Given the description of an element on the screen output the (x, y) to click on. 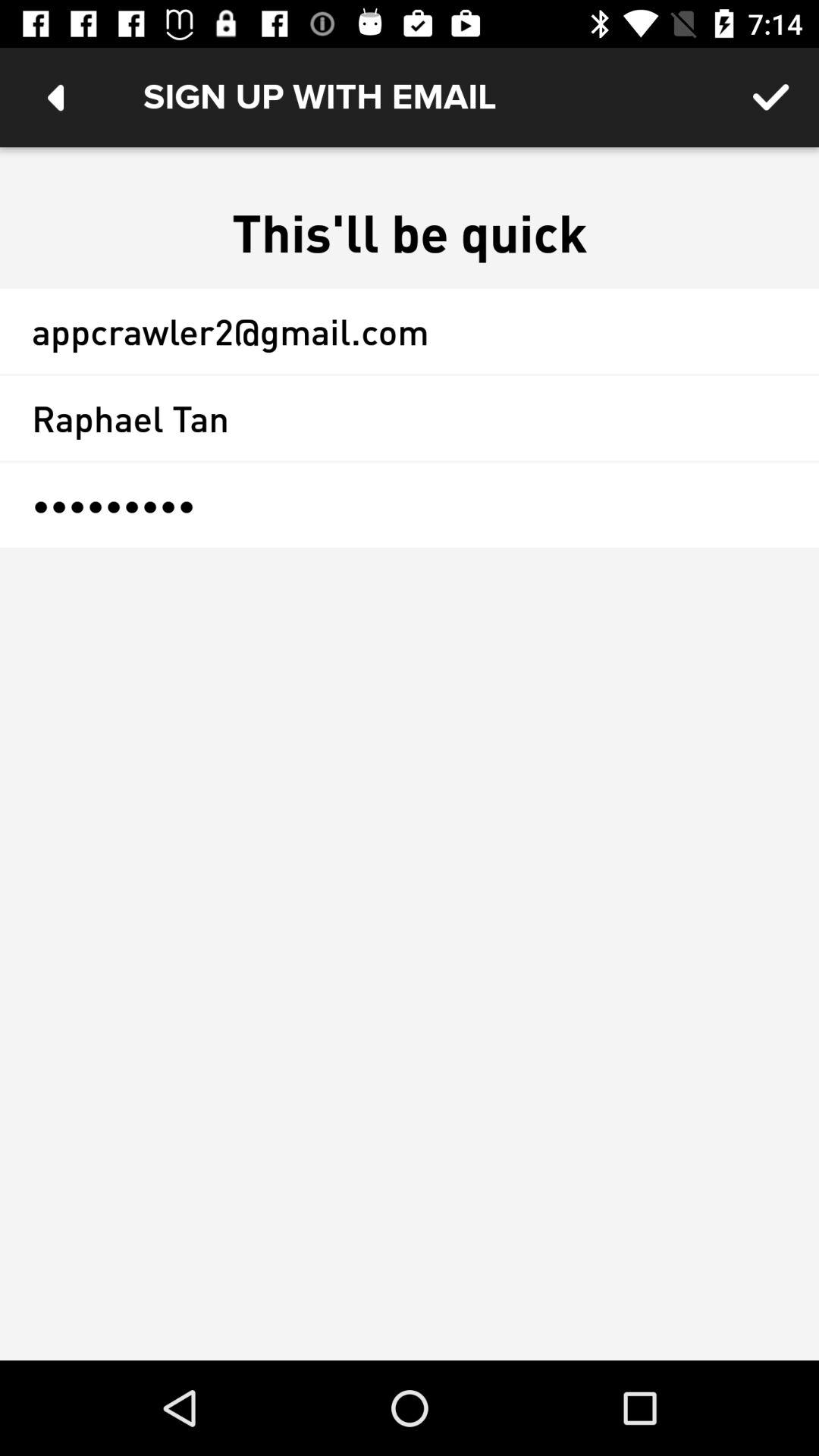
launch icon above raphael tan icon (409, 330)
